Given the description of an element on the screen output the (x, y) to click on. 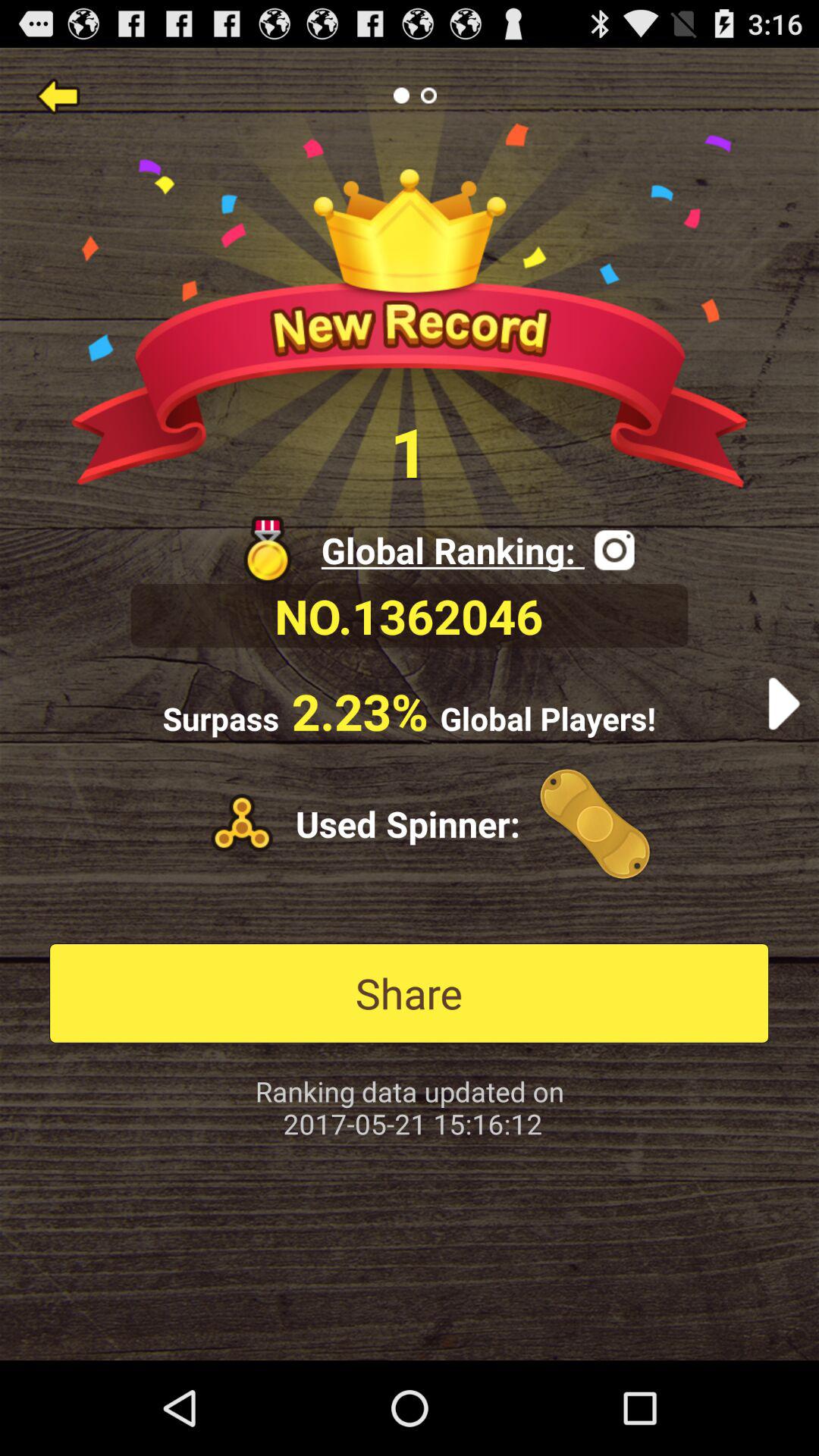
go to previous (57, 95)
